Given the description of an element on the screen output the (x, y) to click on. 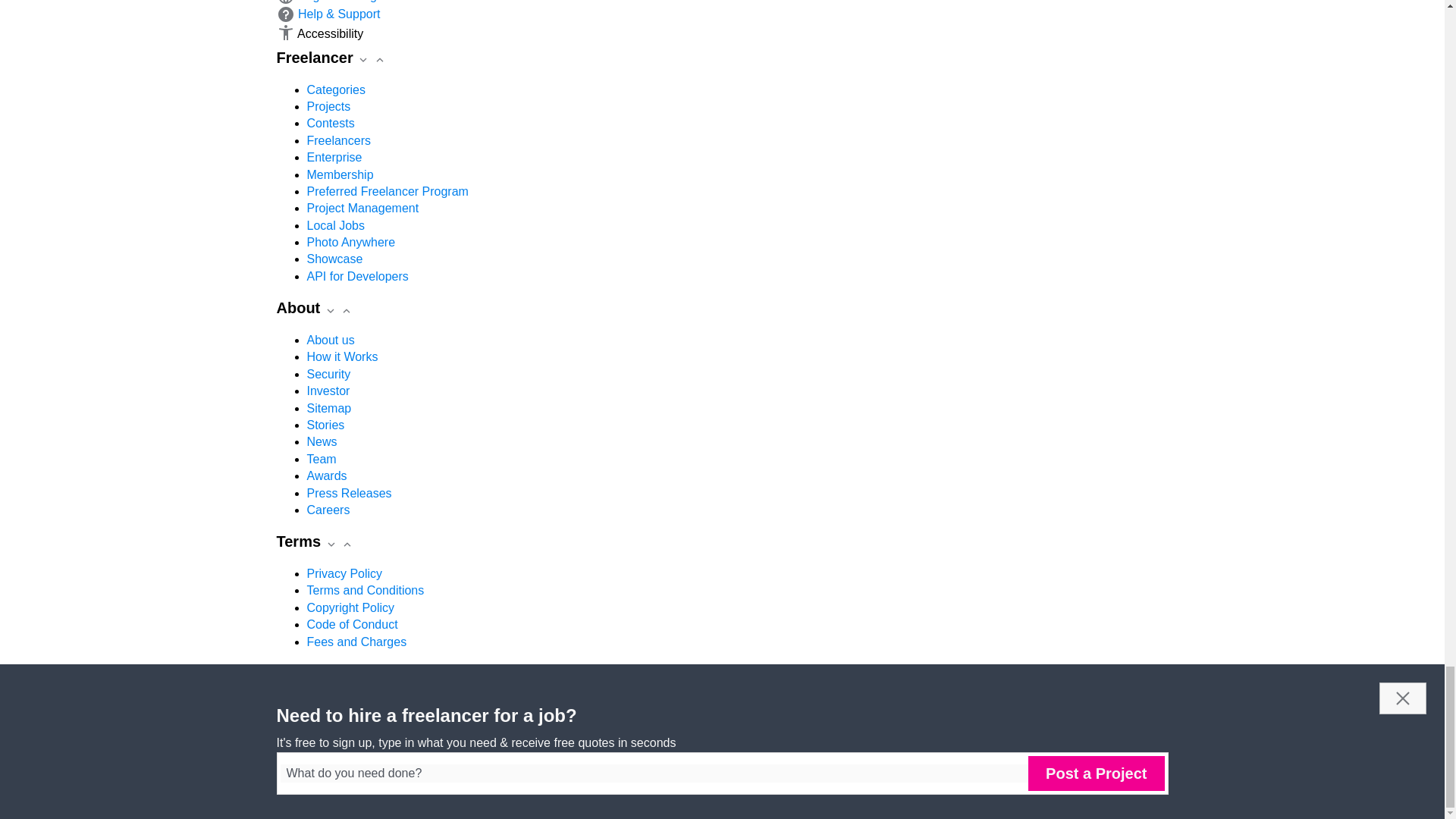
Freelancer on Twitter (306, 721)
Freelancer on Youtube (327, 721)
Latest Projects (371, 721)
Freelancer on Facebook (285, 721)
Download on the App Store (346, 703)
Get it on Google Play (492, 703)
Freelancer on Instagram (349, 721)
